Given the description of an element on the screen output the (x, y) to click on. 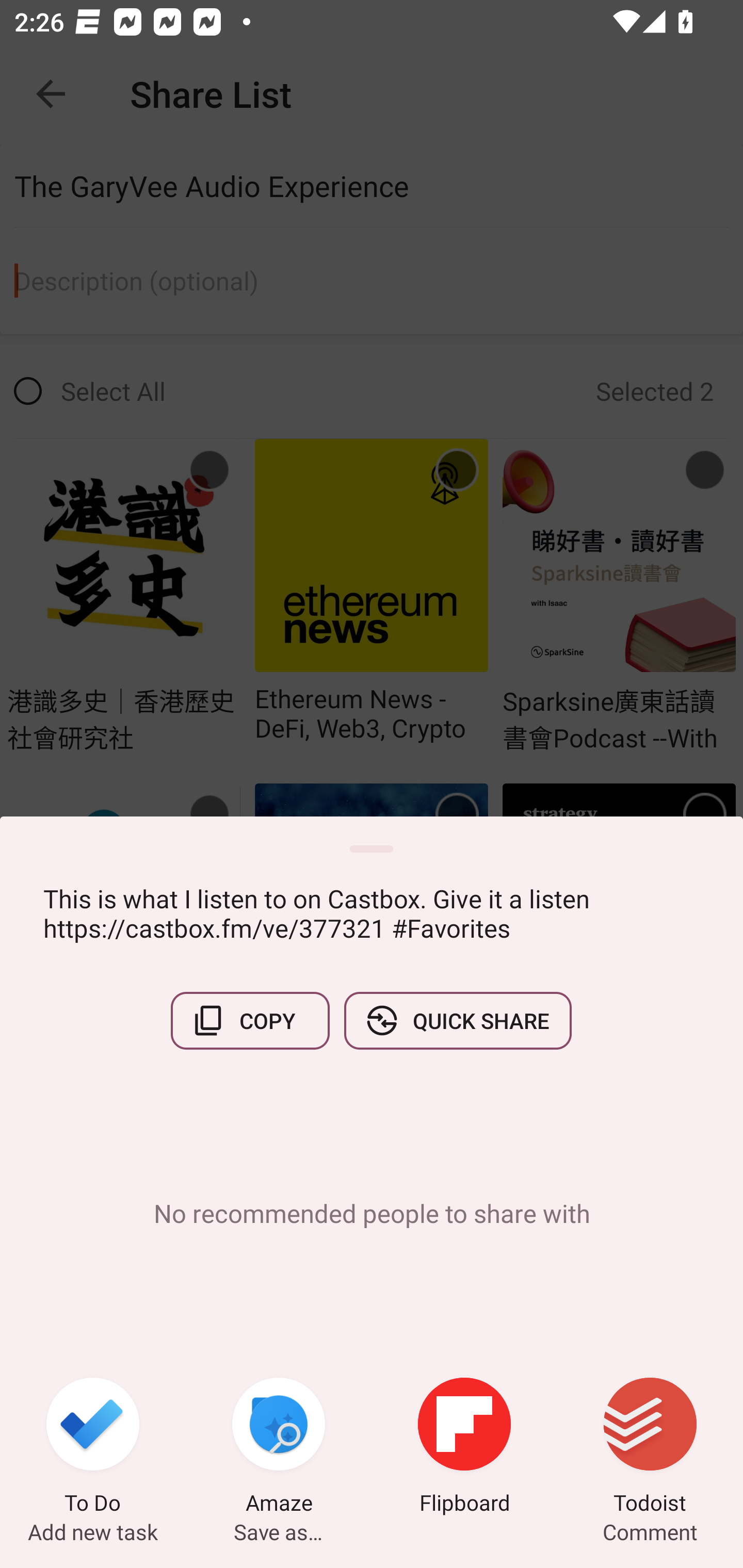
COPY (249, 1020)
QUICK SHARE (457, 1020)
To Do Add new task (92, 1448)
Amaze Save as… (278, 1448)
Flipboard (464, 1448)
Todoist Comment (650, 1448)
